Given the description of an element on the screen output the (x, y) to click on. 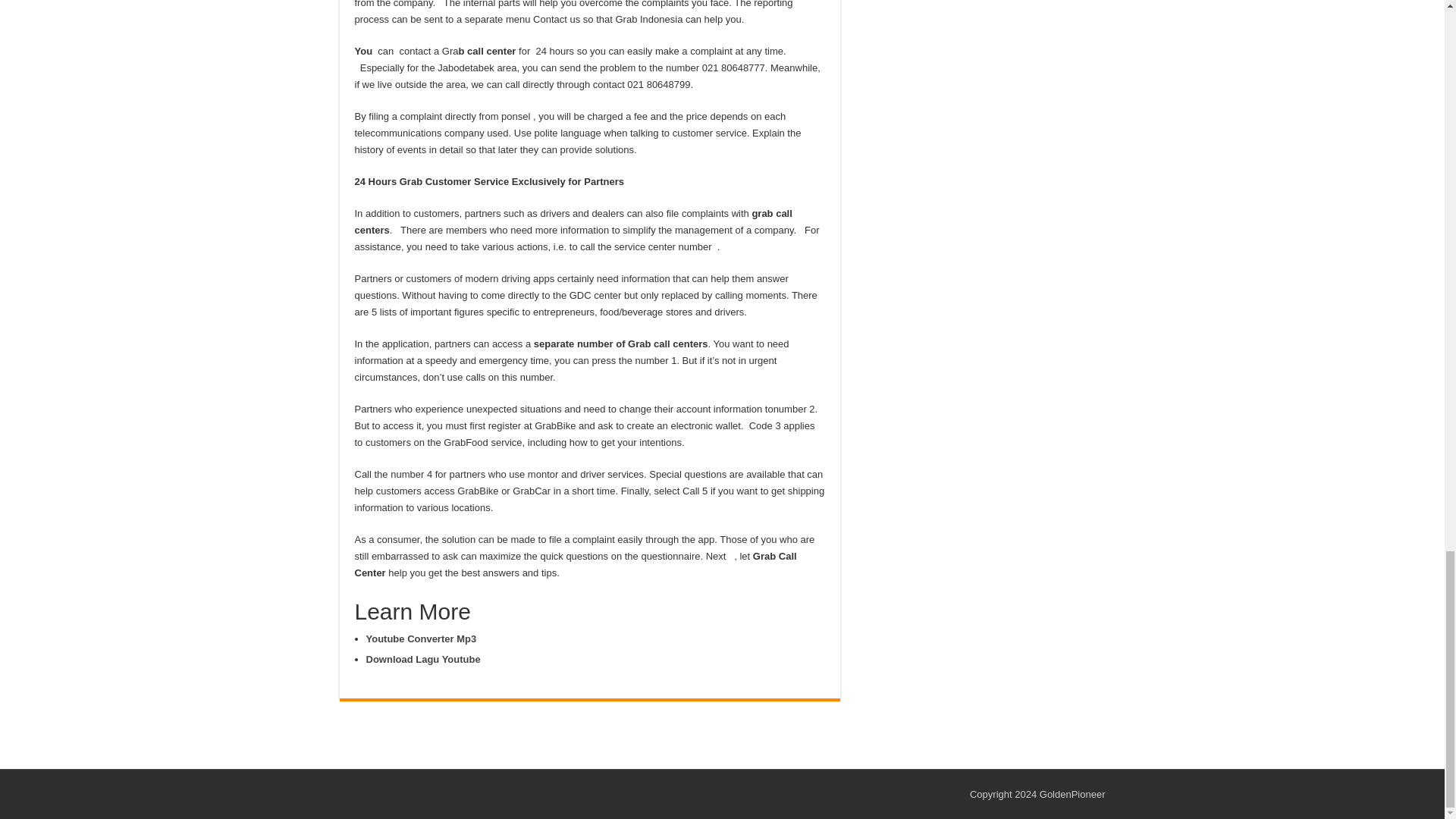
GoldenPioneer (1072, 794)
Youtube Converter Mp3 (420, 638)
Download Lagu Youtube (422, 659)
